Given the description of an element on the screen output the (x, y) to click on. 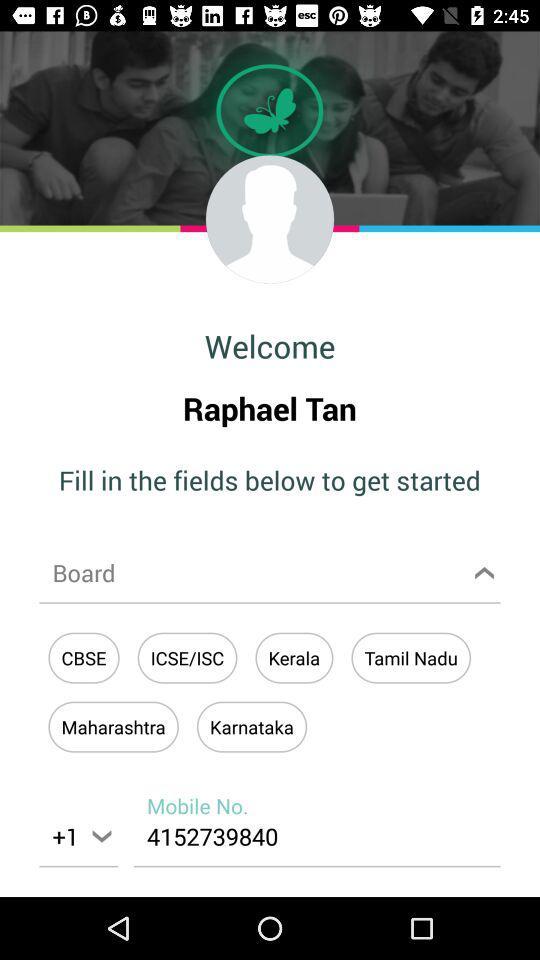
expand board button (269, 572)
